Given the description of an element on the screen output the (x, y) to click on. 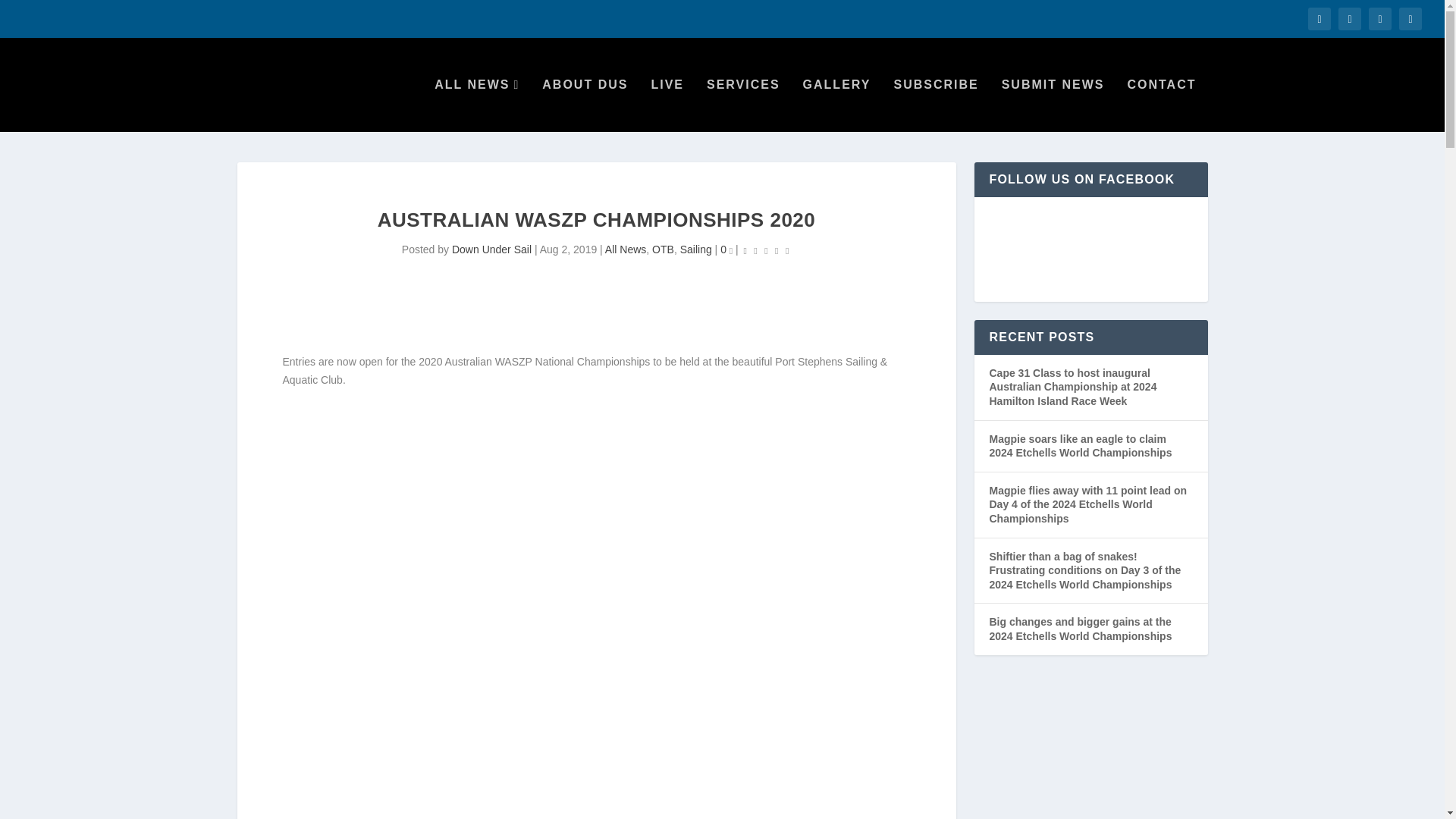
CONTACT (1160, 104)
SERVICES (743, 104)
GALLERY (836, 104)
ALL NEWS (476, 104)
Down Under Sail (491, 249)
ABOUT DUS (584, 104)
Sailing (695, 249)
Rating: 0.00 (766, 250)
All News (625, 249)
OTB (663, 249)
SUBMIT NEWS (1053, 104)
SUBSCRIBE (935, 104)
Posts by Down Under Sail (491, 249)
0 (726, 249)
